Given the description of an element on the screen output the (x, y) to click on. 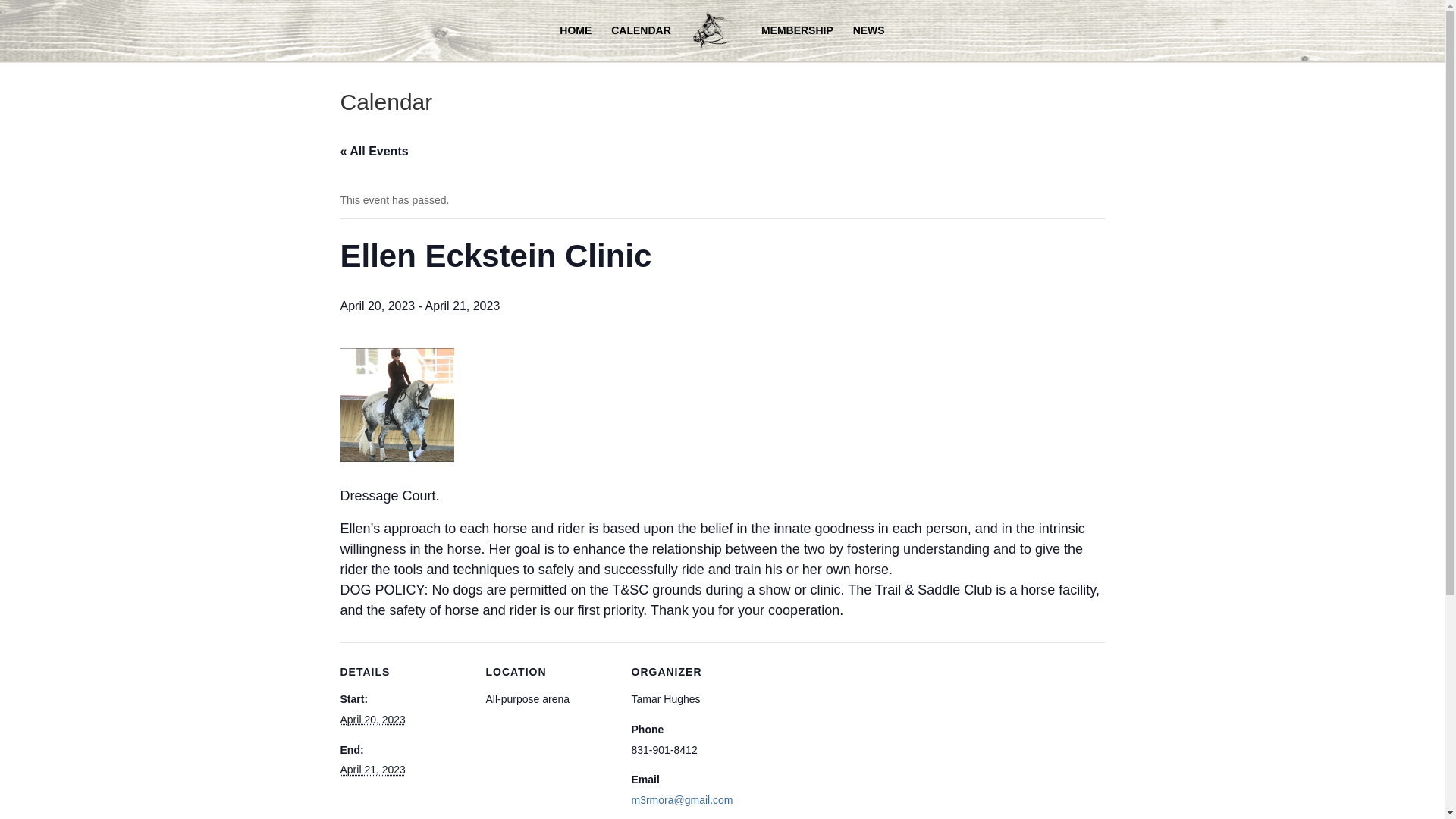
NEWS (869, 42)
CALENDAR (641, 42)
2023-04-21 (371, 769)
HOME (575, 42)
MEMBERSHIP (796, 42)
2023-04-20 (371, 719)
